Given the description of an element on the screen output the (x, y) to click on. 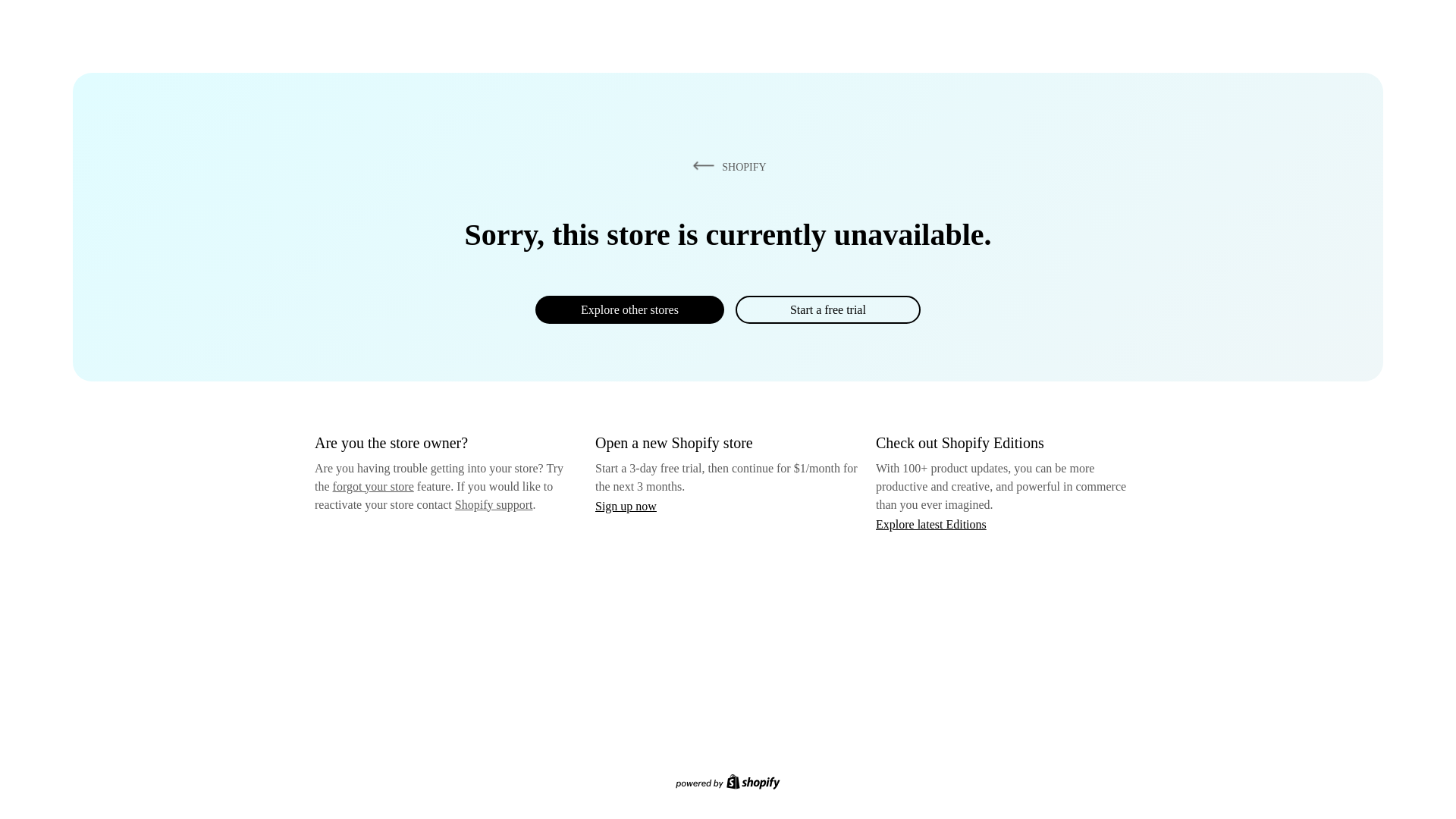
Explore other stores (629, 309)
Explore latest Editions (931, 523)
Shopify support (493, 504)
Sign up now (625, 505)
Start a free trial (827, 309)
SHOPIFY (726, 166)
forgot your store (373, 486)
